Given the description of an element on the screen output the (x, y) to click on. 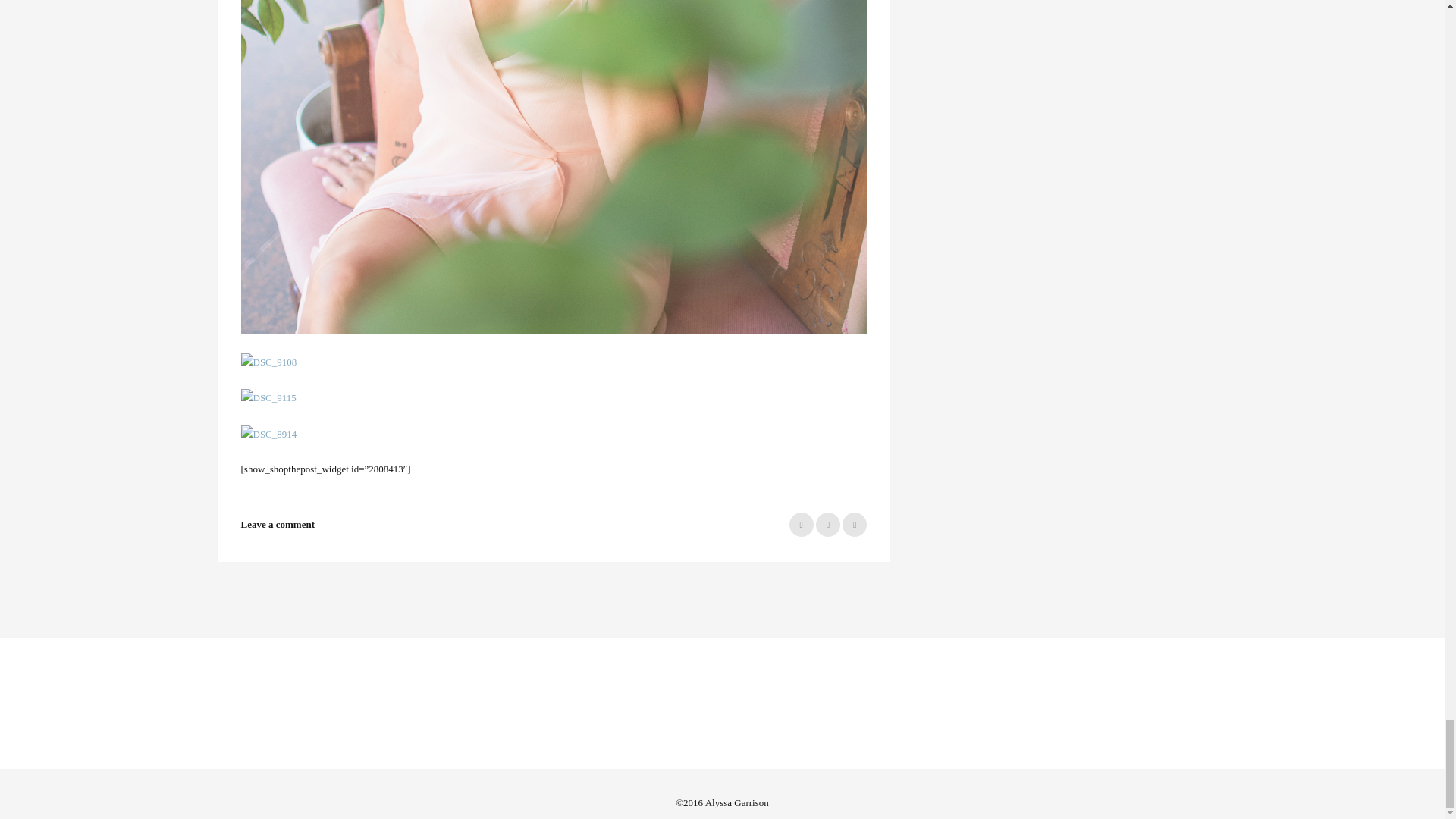
Leave a comment (277, 523)
